Given the description of an element on the screen output the (x, y) to click on. 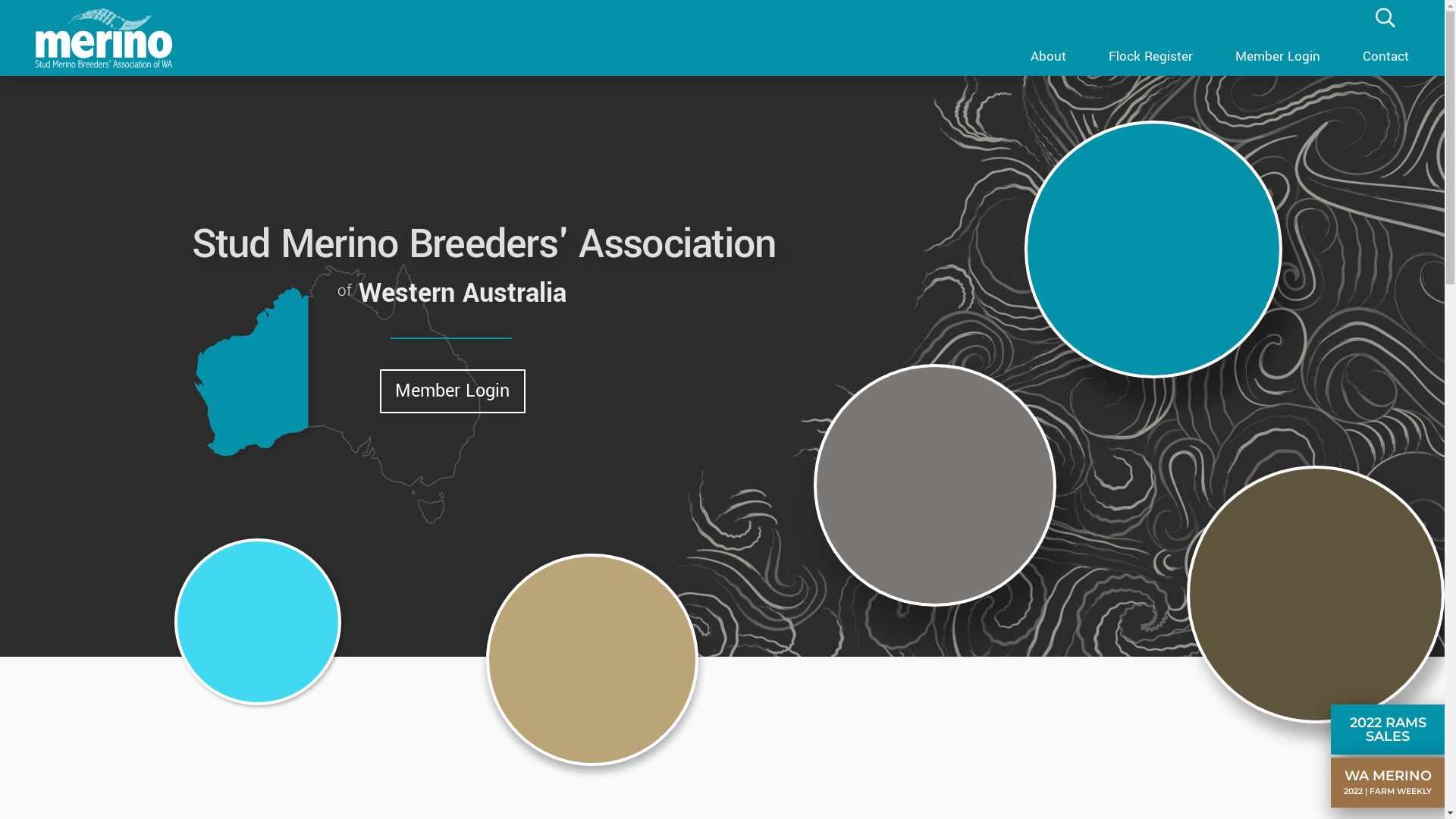
Flock Register Element type: text (1150, 54)
Member Login Element type: text (451, 391)
2022 RAMS SALES Element type: text (1391, 729)
About Element type: text (1048, 54)
WA MERINO
2022 | FARM WEEKLY Element type: text (1391, 782)
Member Login Element type: text (1277, 54)
Contact Element type: text (1385, 54)
